Given the description of an element on the screen output the (x, y) to click on. 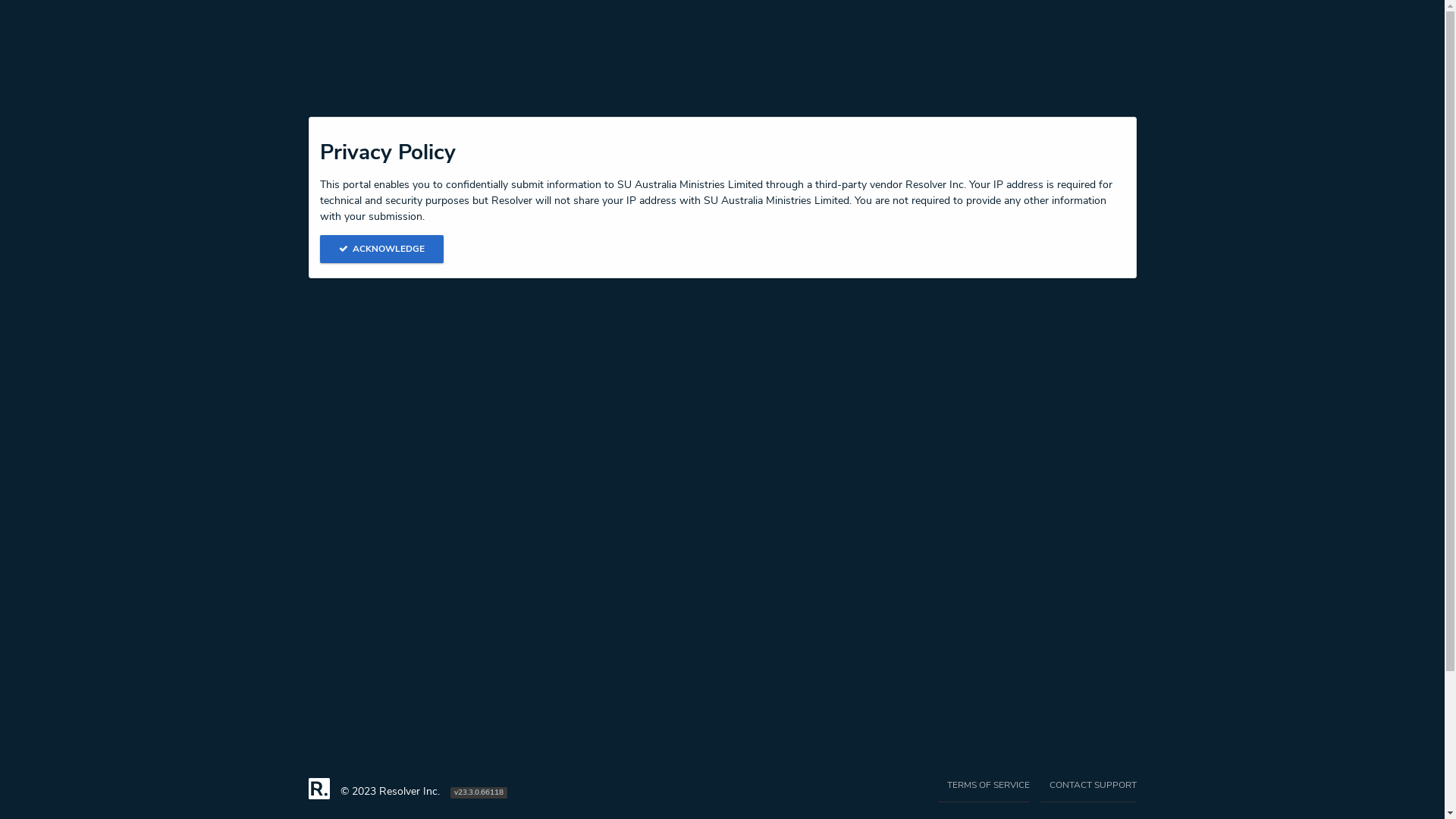
TERMS OF SERVICE Element type: text (983, 790)
ACKNOWLEDGE Element type: text (382, 249)
CONTACT SUPPORT Element type: text (1088, 790)
